Given the description of an element on the screen output the (x, y) to click on. 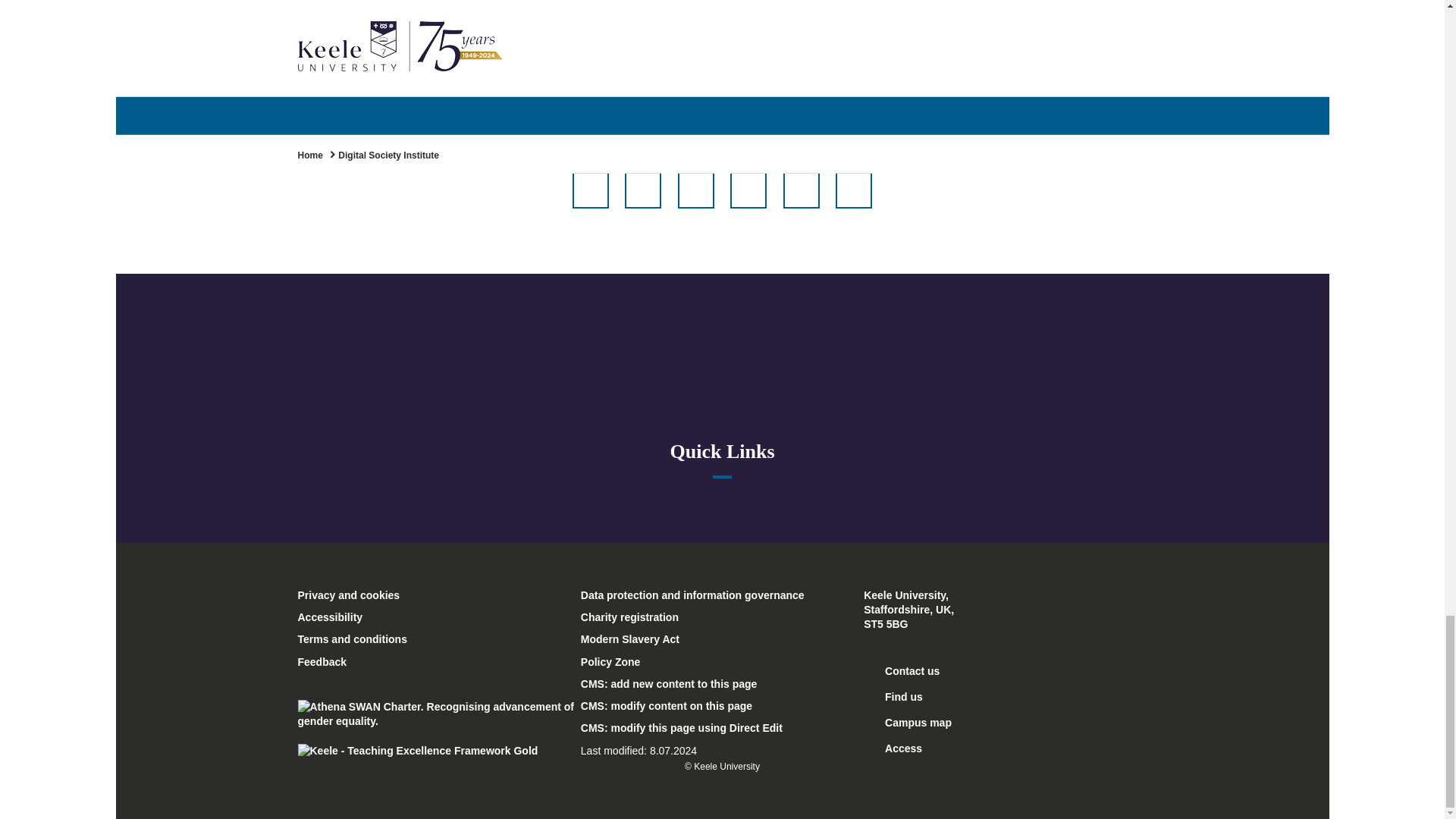
Link to Instagram (748, 189)
Campus map (907, 722)
Link to Facebook (590, 189)
Link to Youtube (696, 189)
Contact us (901, 671)
Access (892, 748)
Link to Twitter (642, 189)
Find us (893, 696)
Link to LinkedIn (801, 189)
Link to Weibo (853, 189)
